Given the description of an element on the screen output the (x, y) to click on. 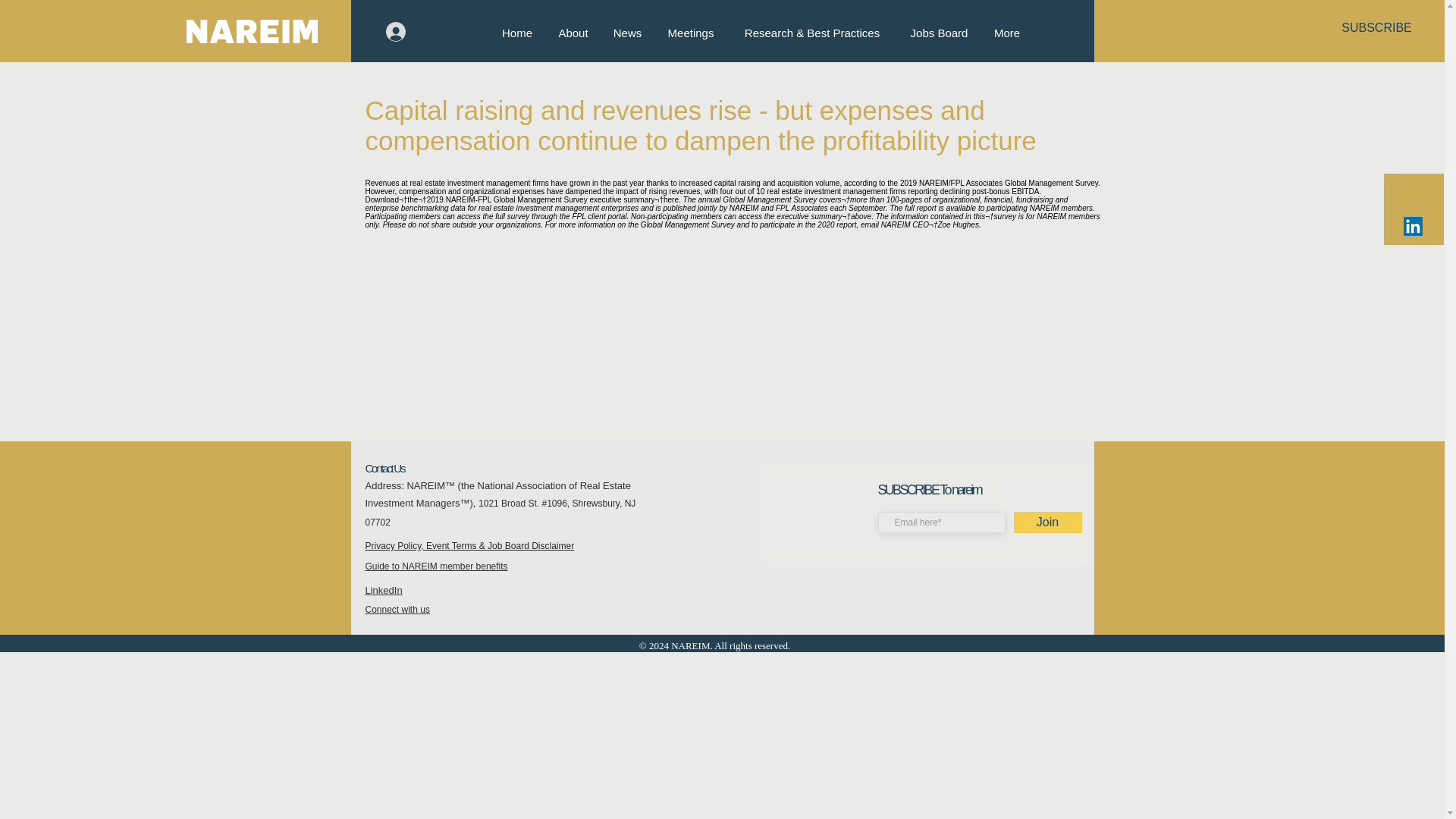
2019 NAREIM-FPL Global Management Survey executive summary (540, 199)
LinkedIn (384, 590)
Guide to NAREIM member benefits (436, 566)
Meetings (689, 32)
Jobs Board (938, 32)
Contact Us (384, 468)
About (573, 32)
Log In (417, 31)
News (626, 32)
Zoe Hughes (957, 224)
Connect with us (397, 609)
Home (515, 32)
